Given the description of an element on the screen output the (x, y) to click on. 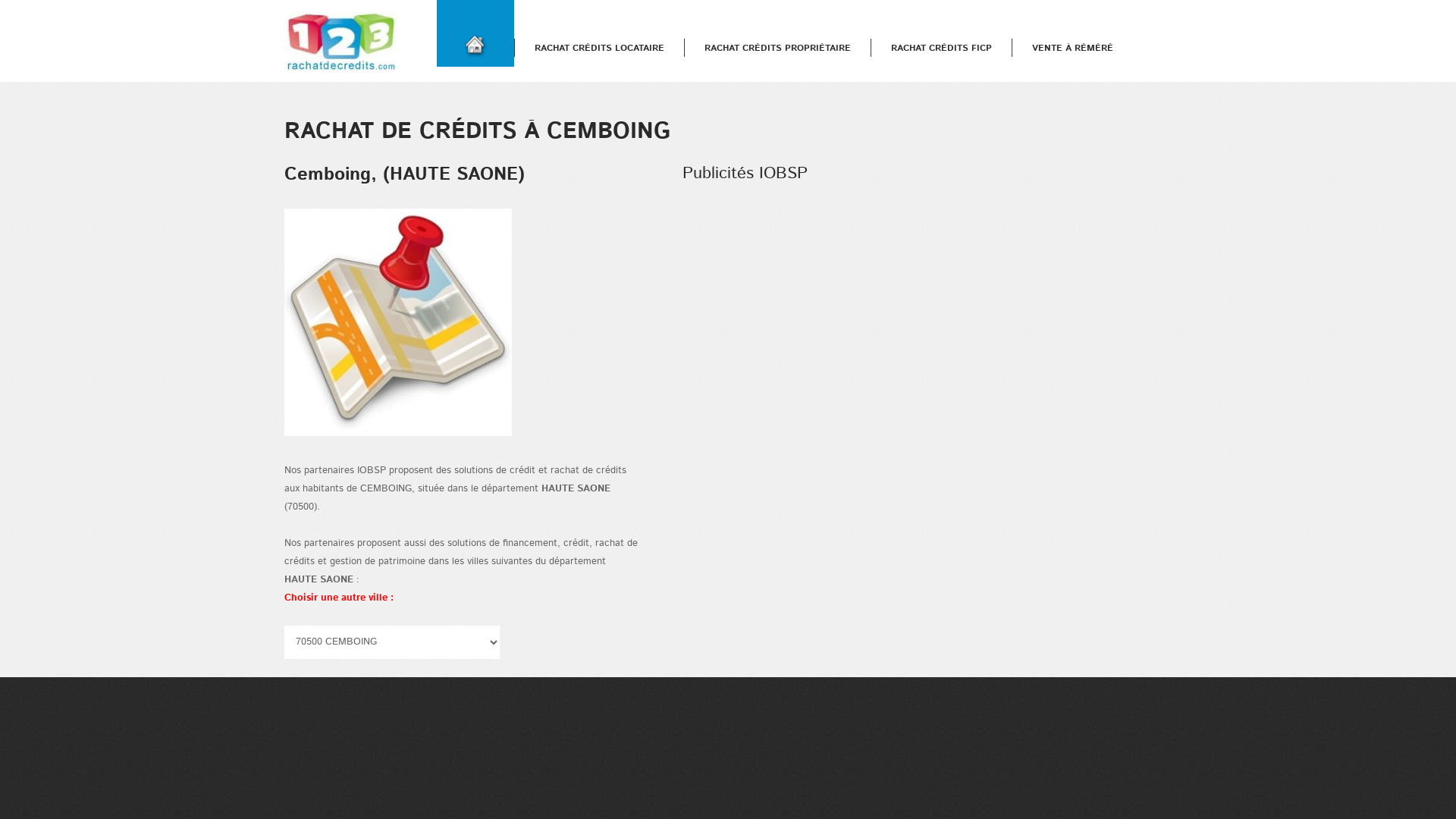
Menu Element type: text (12, 0)
Accueil Element type: hover (341, 42)
Accueil Element type: text (16, 0)
